Given the description of an element on the screen output the (x, y) to click on. 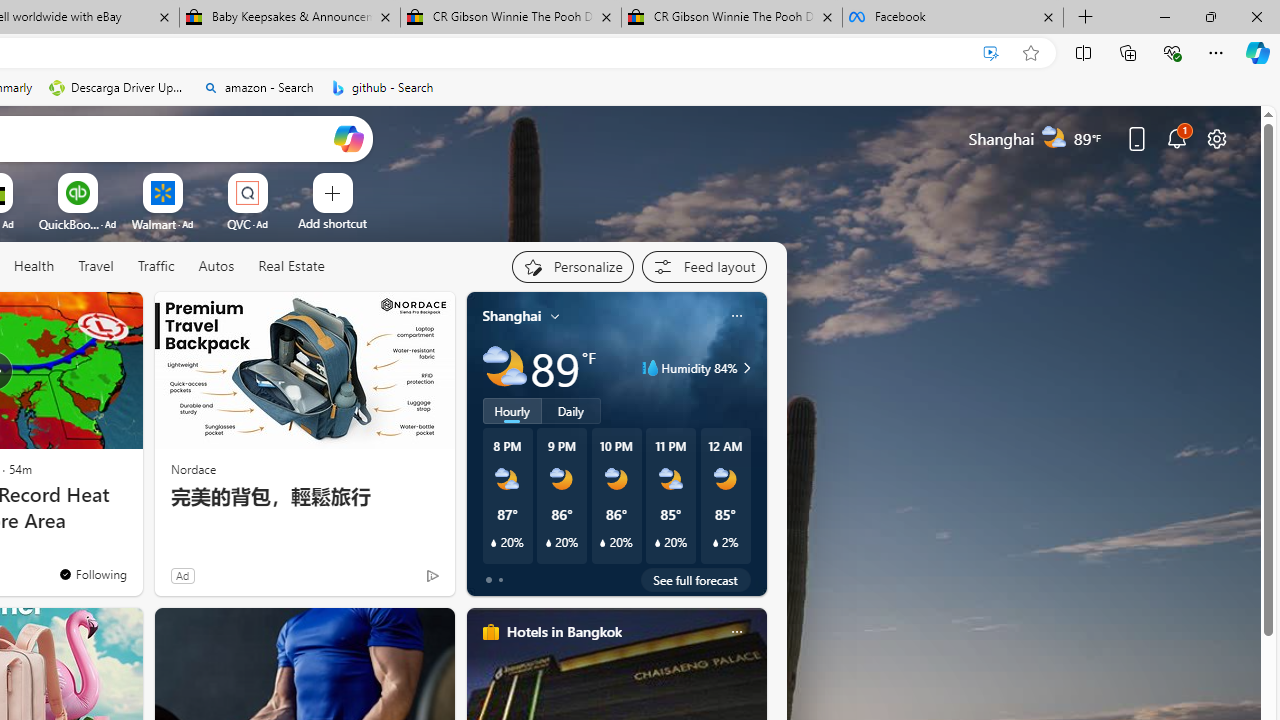
Hotels in Bangkok (563, 631)
tab-0 (488, 579)
My location (555, 315)
Hourly (511, 411)
Traffic (155, 267)
Autos (215, 265)
